Given the description of an element on the screen output the (x, y) to click on. 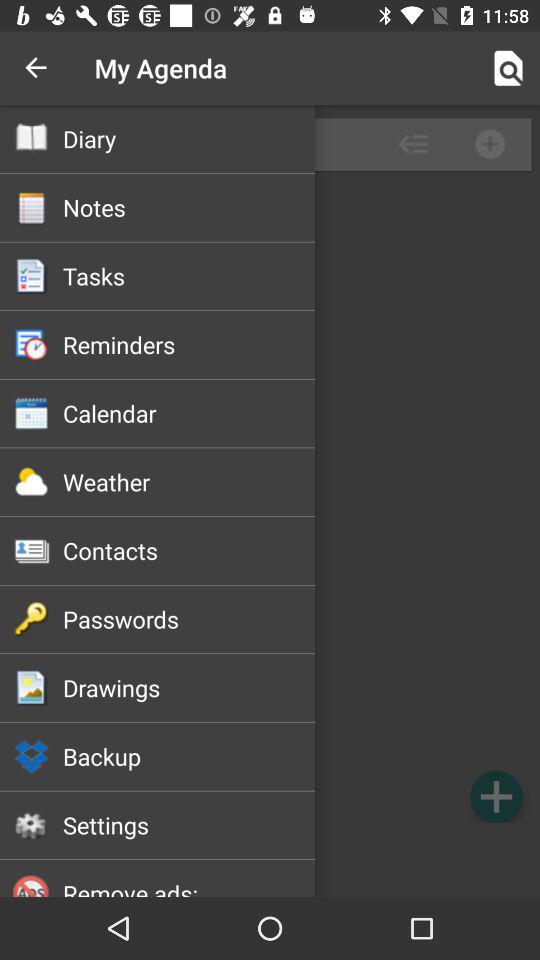
choose the item to the right of the backup item (496, 796)
